Given the description of an element on the screen output the (x, y) to click on. 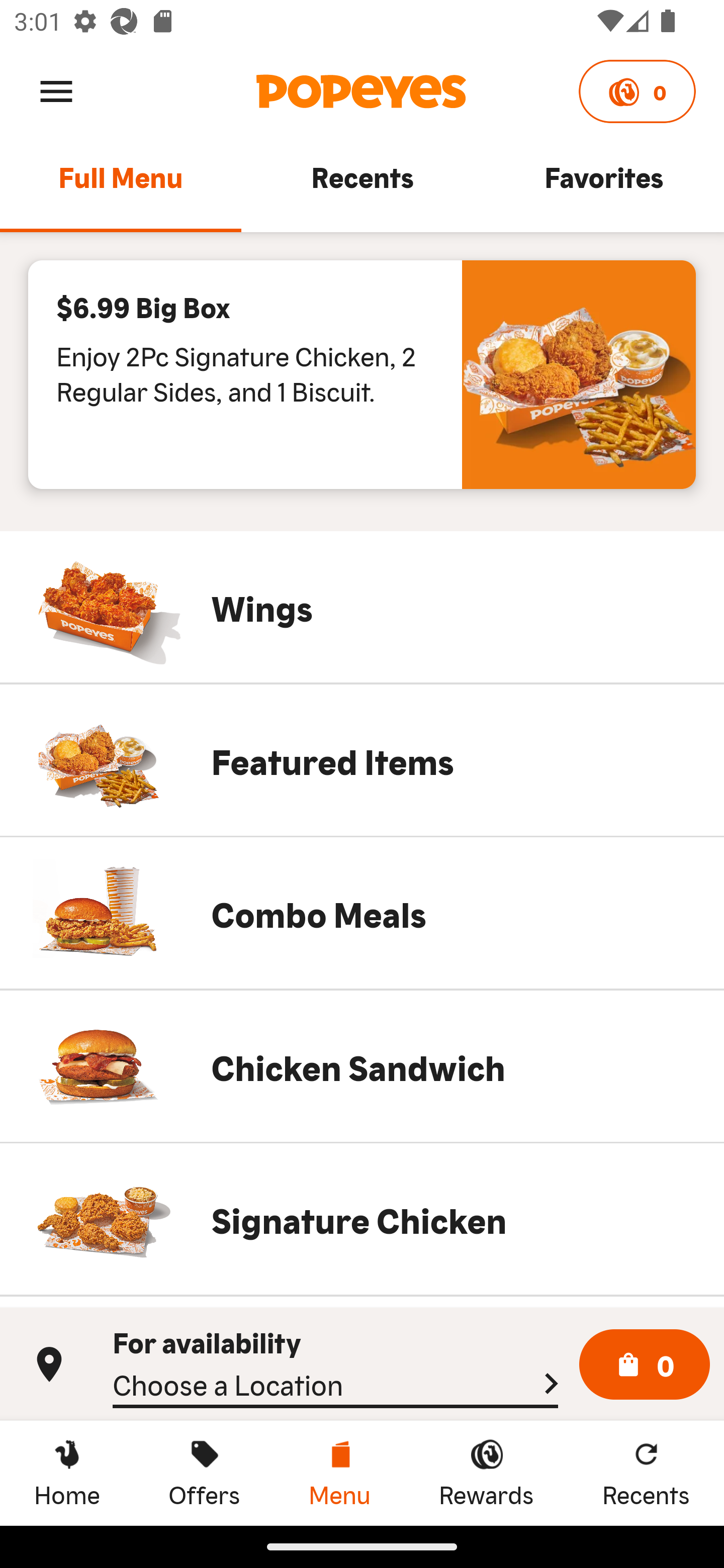
Menu  (56, 90)
0 Points 0 (636, 91)
Full Menu (120, 186)
Recents (361, 186)
Favorites (603, 186)
Wings, Wings Wings Wings (362, 606)
0 Cart total  0 (644, 1364)
Home Home Home (66, 1472)
Offers Offers Offers (203, 1472)
Menu, current page Menu Menu, current page (339, 1472)
Rewards Rewards Rewards (486, 1472)
Recents Recents Recents (646, 1472)
